Given the description of an element on the screen output the (x, y) to click on. 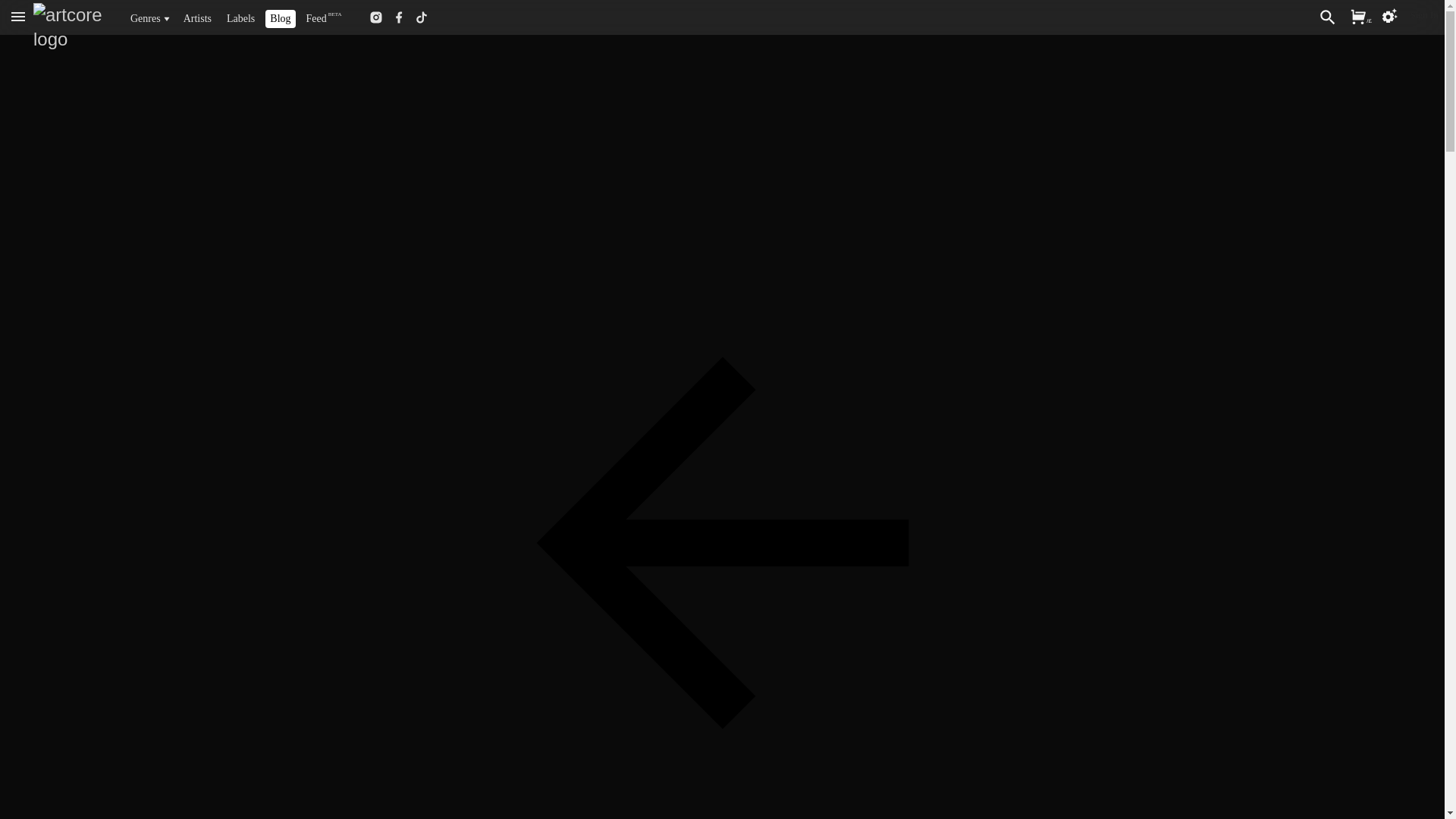
Blog (279, 18)
Labels (240, 18)
Artists (197, 18)
Feed (315, 17)
Sign In (1424, 14)
